Given the description of an element on the screen output the (x, y) to click on. 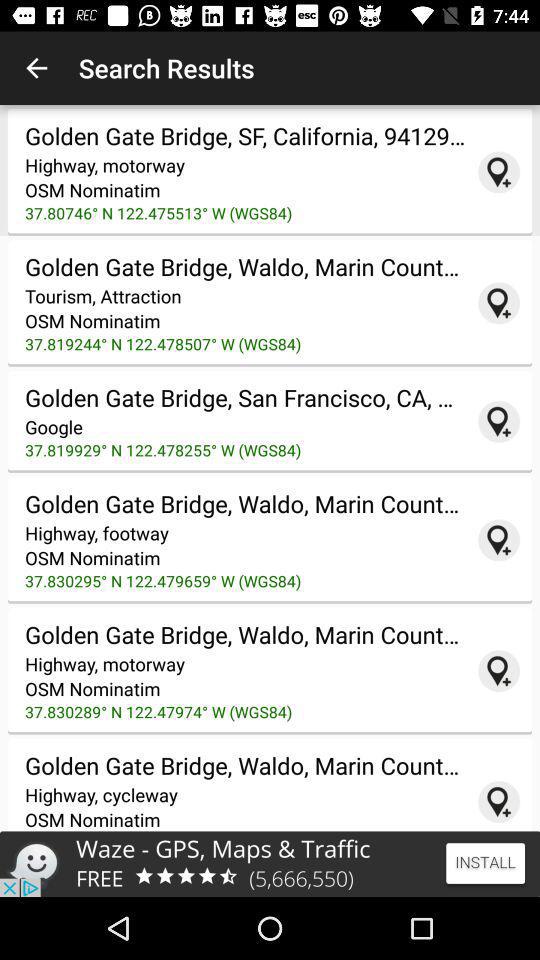
the location marker (499, 540)
